Given the description of an element on the screen output the (x, y) to click on. 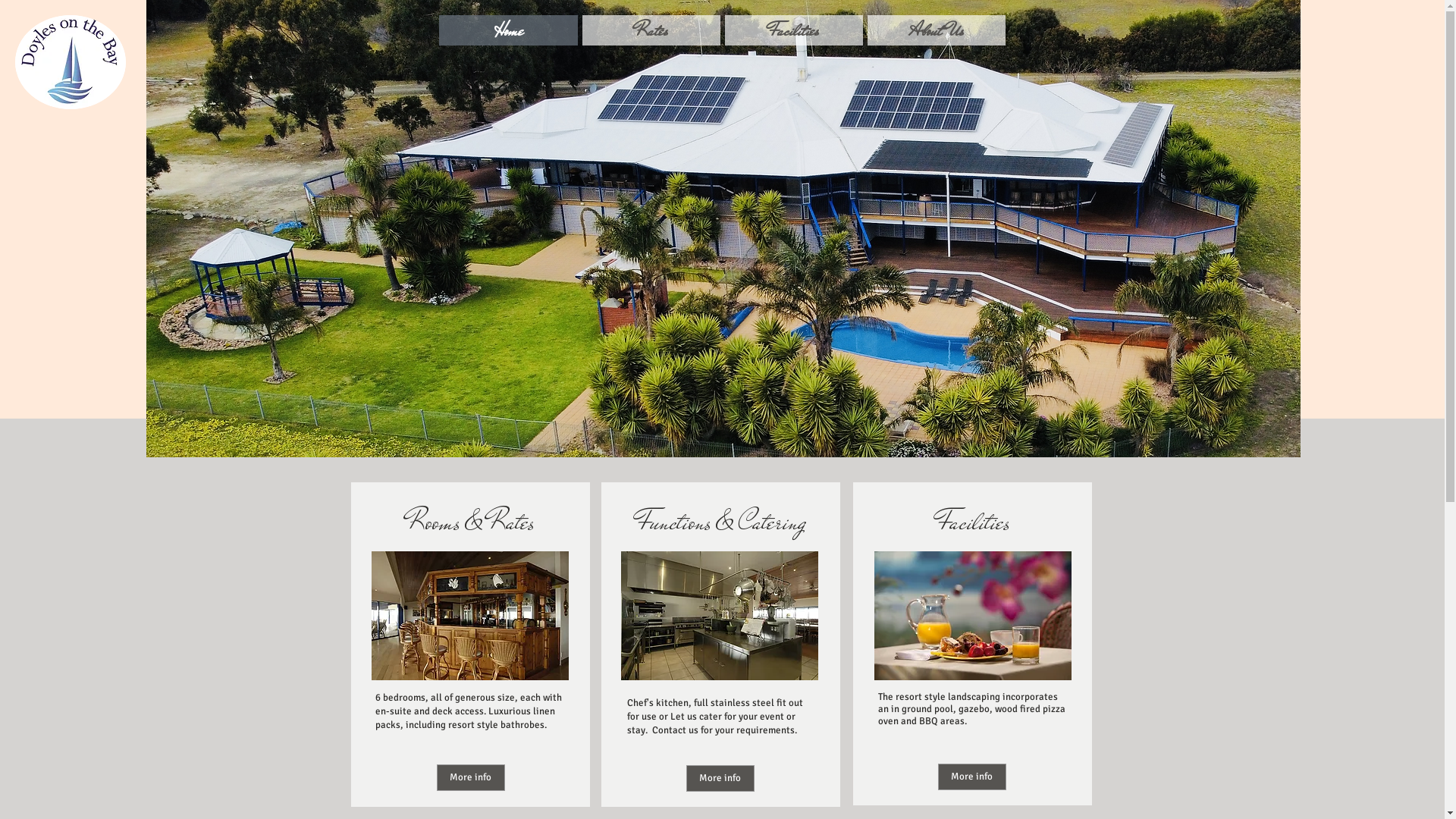
Rates Element type: text (651, 30)
Facilities Element type: text (793, 30)
bay-25.jpg Element type: hover (469, 615)
More info Element type: text (719, 778)
More info Element type: text (971, 776)
bay-20.jpg Element type: hover (718, 615)
About Us Element type: text (936, 30)
More info Element type: text (470, 777)
Home Element type: text (508, 30)
Logo Re-Create - FINAL.jpg Element type: hover (70, 62)
